Given the description of an element on the screen output the (x, y) to click on. 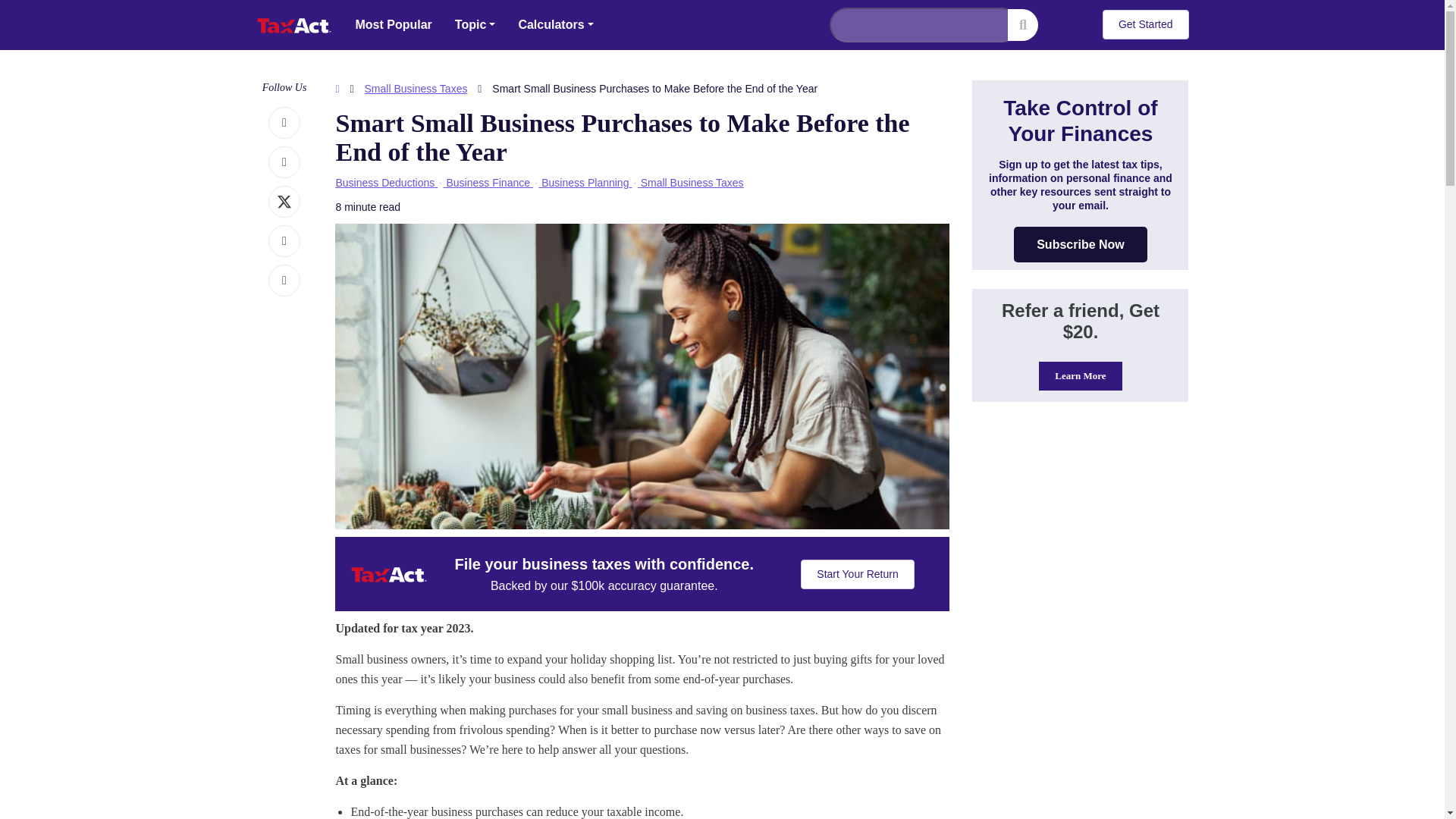
Youtube (284, 280)
Start Your Return (857, 573)
Business Deductions (383, 182)
Instagram (284, 161)
Most Popular (393, 24)
Facebook (284, 122)
Get Started (1145, 24)
Linkedin (284, 240)
Calculators (555, 24)
Business Planning (584, 182)
